Given the description of an element on the screen output the (x, y) to click on. 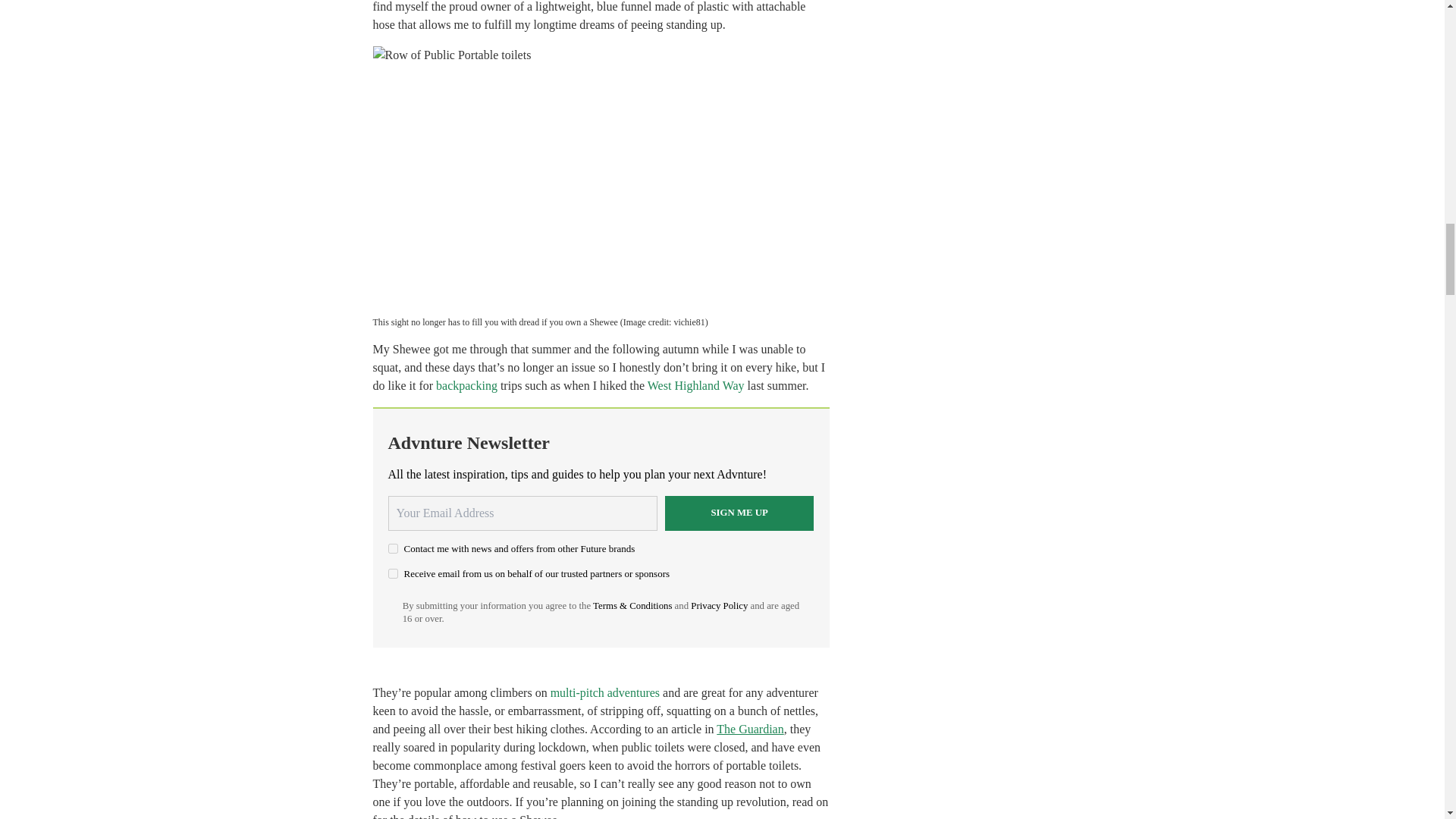
on (392, 573)
Sign me up (739, 513)
on (392, 548)
